Given the description of an element on the screen output the (x, y) to click on. 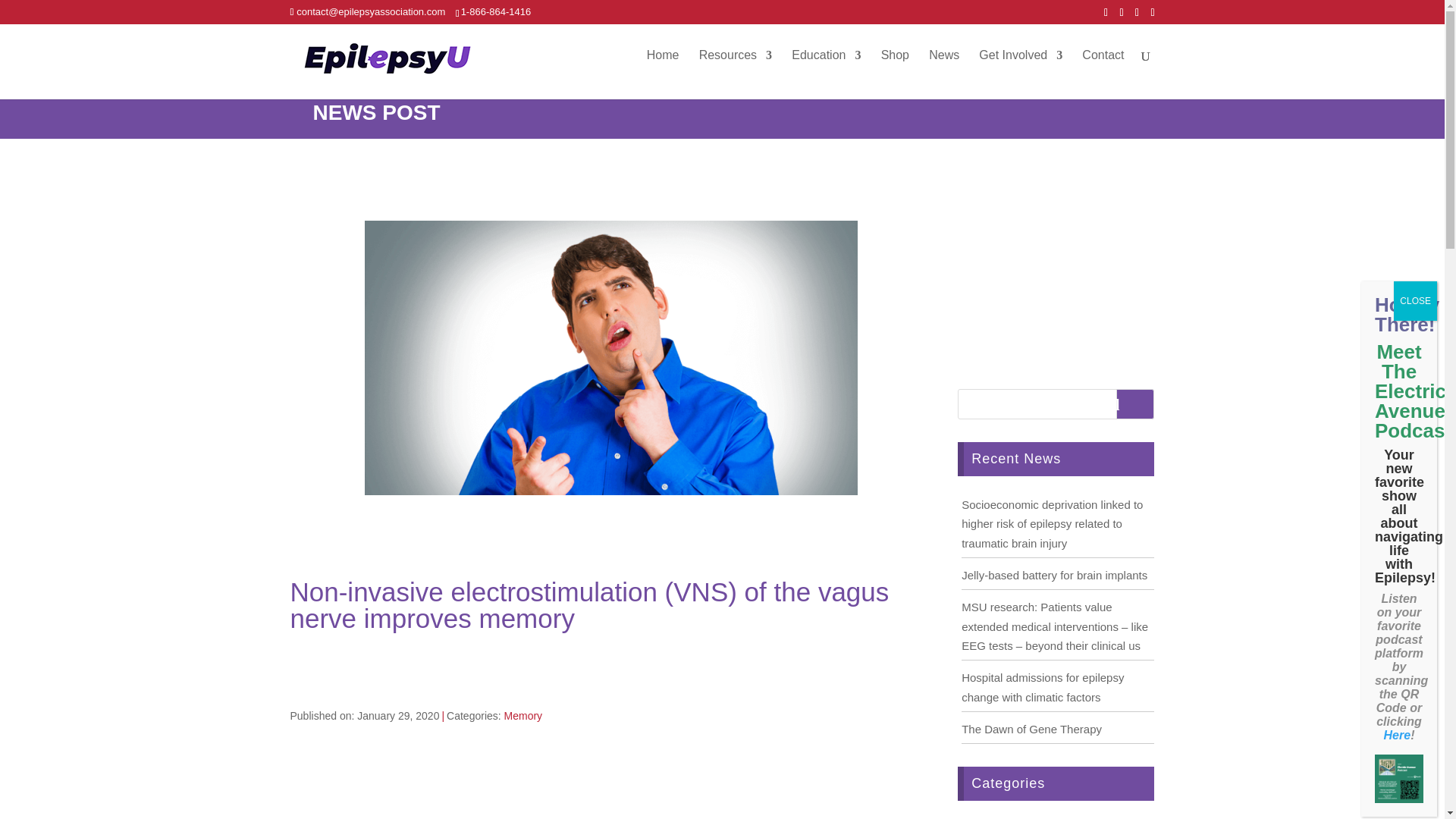
Get Involved (1020, 67)
Search (1135, 404)
Resources (734, 67)
Education (826, 67)
Home (662, 67)
